Given the description of an element on the screen output the (x, y) to click on. 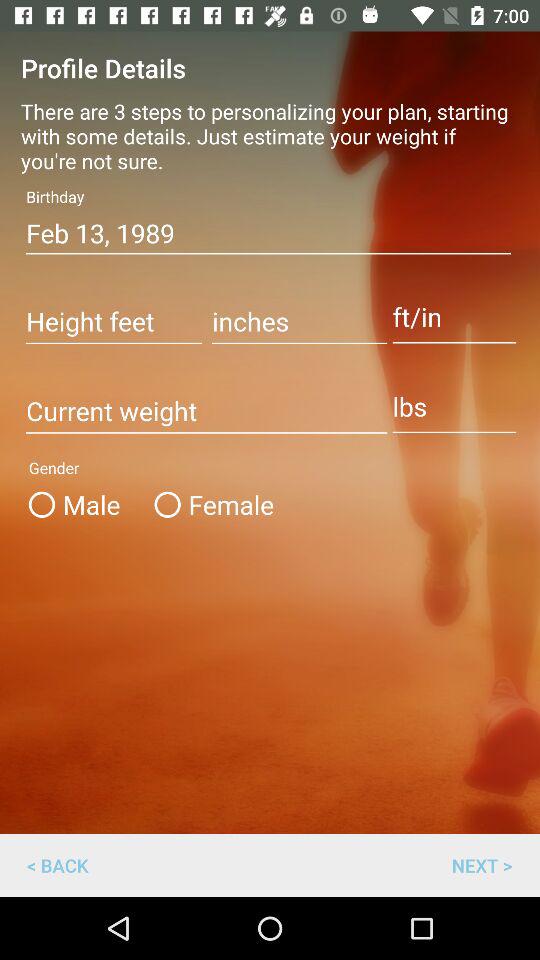
this box enter the inches option (299, 323)
